Given the description of an element on the screen output the (x, y) to click on. 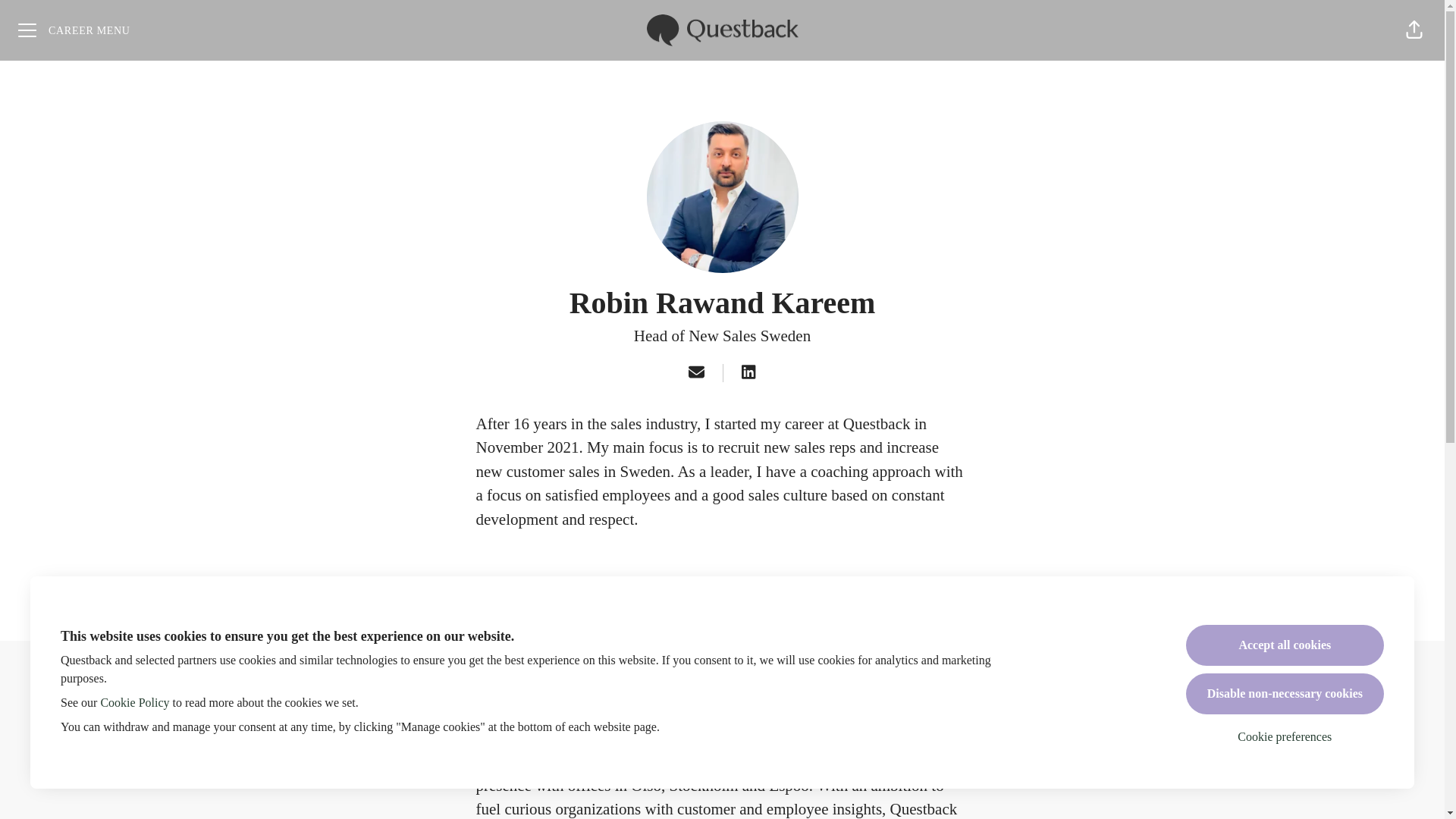
Email (696, 373)
CAREER MENU (73, 30)
Share page (1414, 30)
Disable non-necessary cookies (1285, 693)
Cookie Policy (134, 702)
Cookie preferences (1284, 736)
Career menu (73, 30)
Accept all cookies (1285, 644)
